Given the description of an element on the screen output the (x, y) to click on. 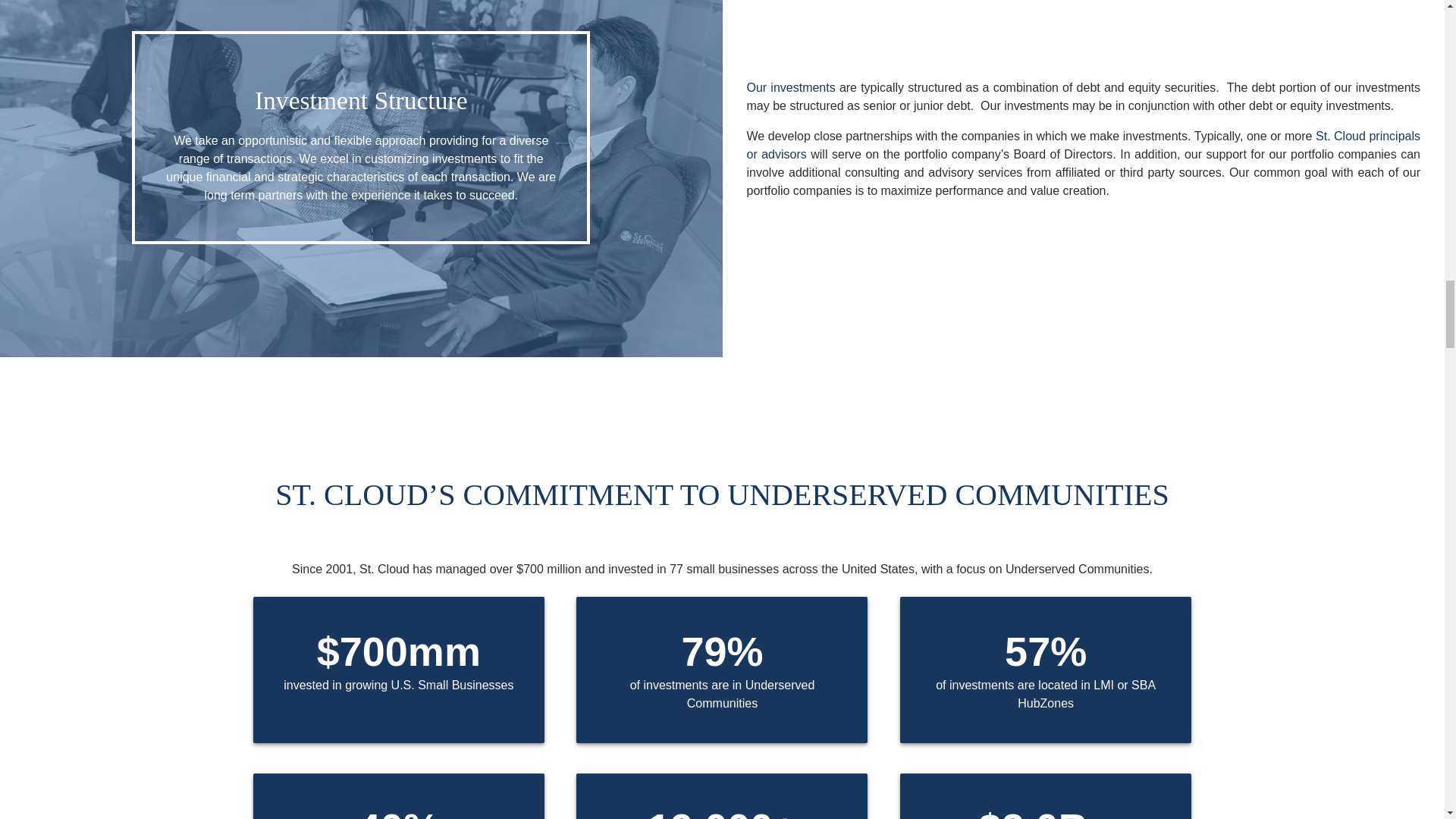
St. Cloud principals or advisors (1083, 144)
Our investments (789, 87)
